Given the description of an element on the screen output the (x, y) to click on. 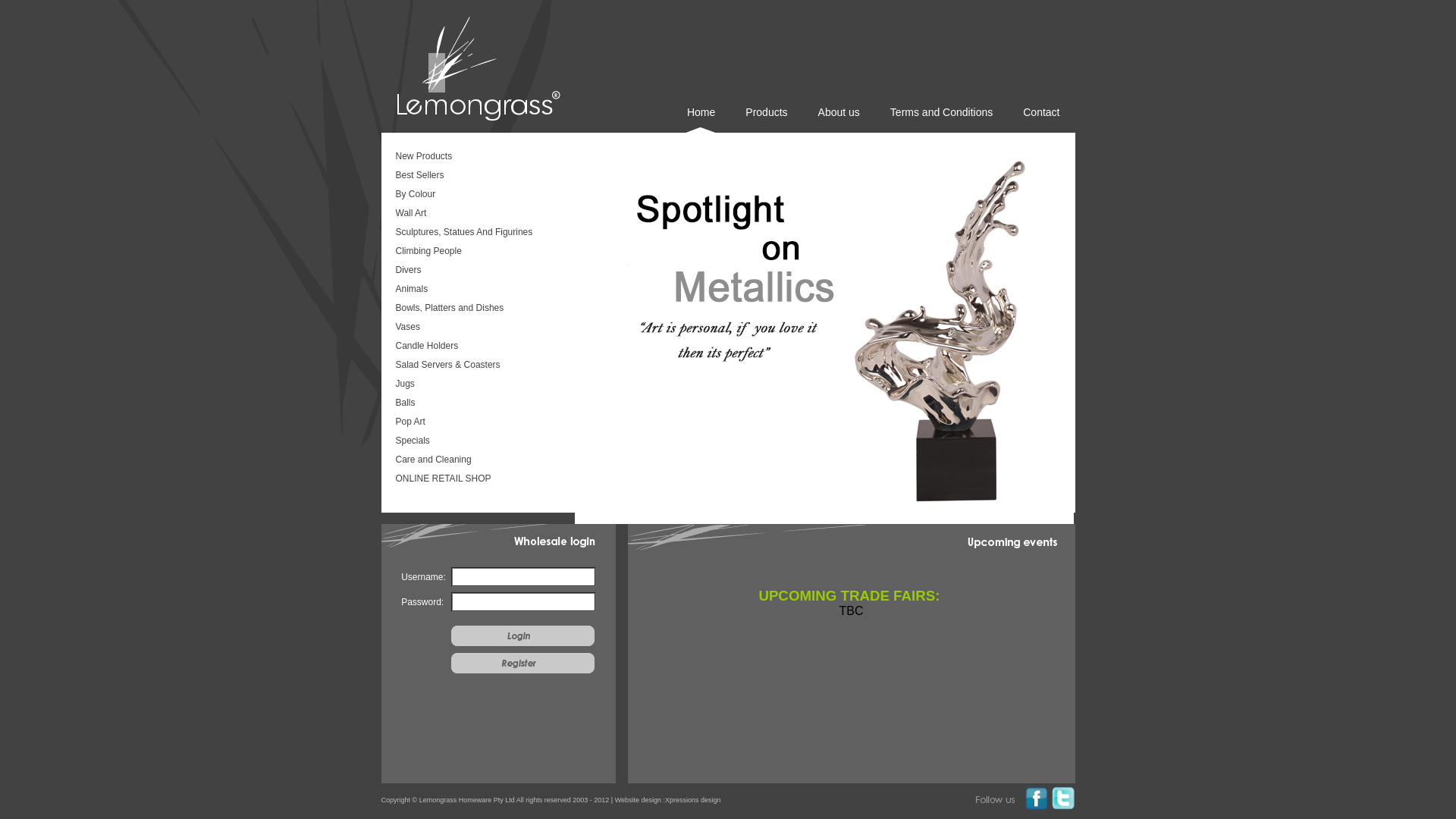
Sculptures, Statues And Figurines Element type: text (475, 233)
Divers Element type: text (475, 271)
Animals Element type: text (475, 290)
Care and Cleaning Element type: text (475, 460)
Bowls, Platters and Dishes Element type: text (475, 309)
New Products Element type: text (475, 157)
Salad Servers & Coasters Element type: text (475, 366)
About us Element type: text (839, 119)
By Colour Element type: text (475, 195)
ONLINE RETAIL SHOP Element type: text (475, 479)
Jugs Element type: text (475, 385)
Climbing People Element type: text (475, 252)
Specials Element type: text (475, 441)
Contact Element type: text (1040, 119)
Terms and Conditions Element type: text (941, 119)
Website design : Element type: text (640, 799)
Vases Element type: text (475, 328)
Pop Art Element type: text (475, 423)
Home Element type: text (700, 119)
1 Element type: hover (823, 333)
Candle Holders Element type: text (475, 347)
Wall Art Element type: text (475, 214)
Products Element type: text (766, 119)
Best Sellers Element type: text (475, 176)
Balls Element type: text (475, 404)
